Given the description of an element on the screen output the (x, y) to click on. 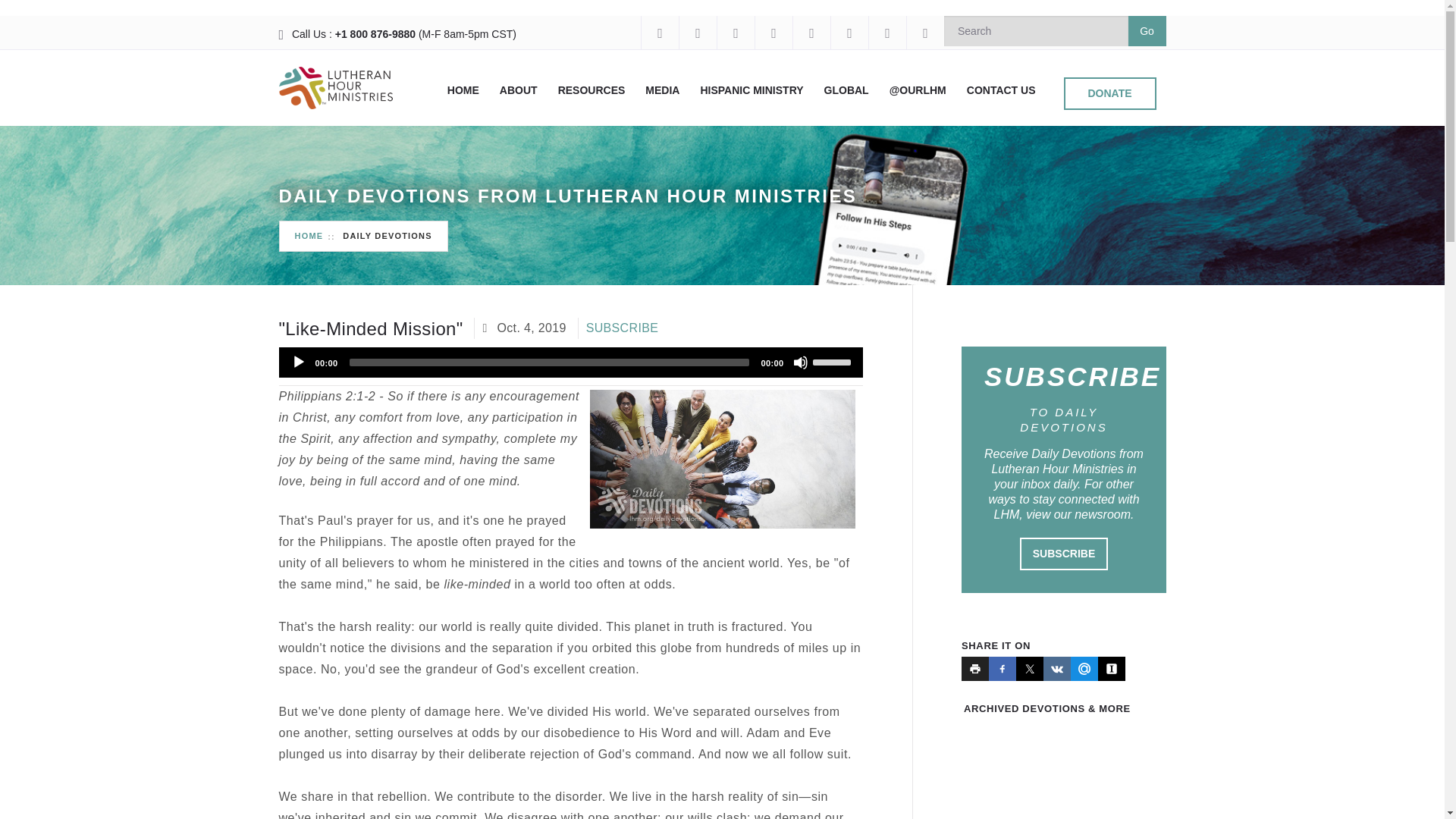
Mute (800, 362)
GLOBAL (846, 90)
HOME (462, 90)
Shop Lutheran Hour Ministries (924, 32)
Lutheran Hour Ministries Vimeo (810, 32)
MEDIA (662, 90)
Resources and Training (591, 90)
ABOUT (518, 90)
Lutheran Hour Ministries YouTube (773, 32)
Go (1147, 30)
CONTACT US (1000, 90)
Lutheran Hour Ministries (336, 87)
RESOURCES (591, 90)
Play (298, 362)
Lutheran Hour Ministries Facebook (659, 32)
